Given the description of an element on the screen output the (x, y) to click on. 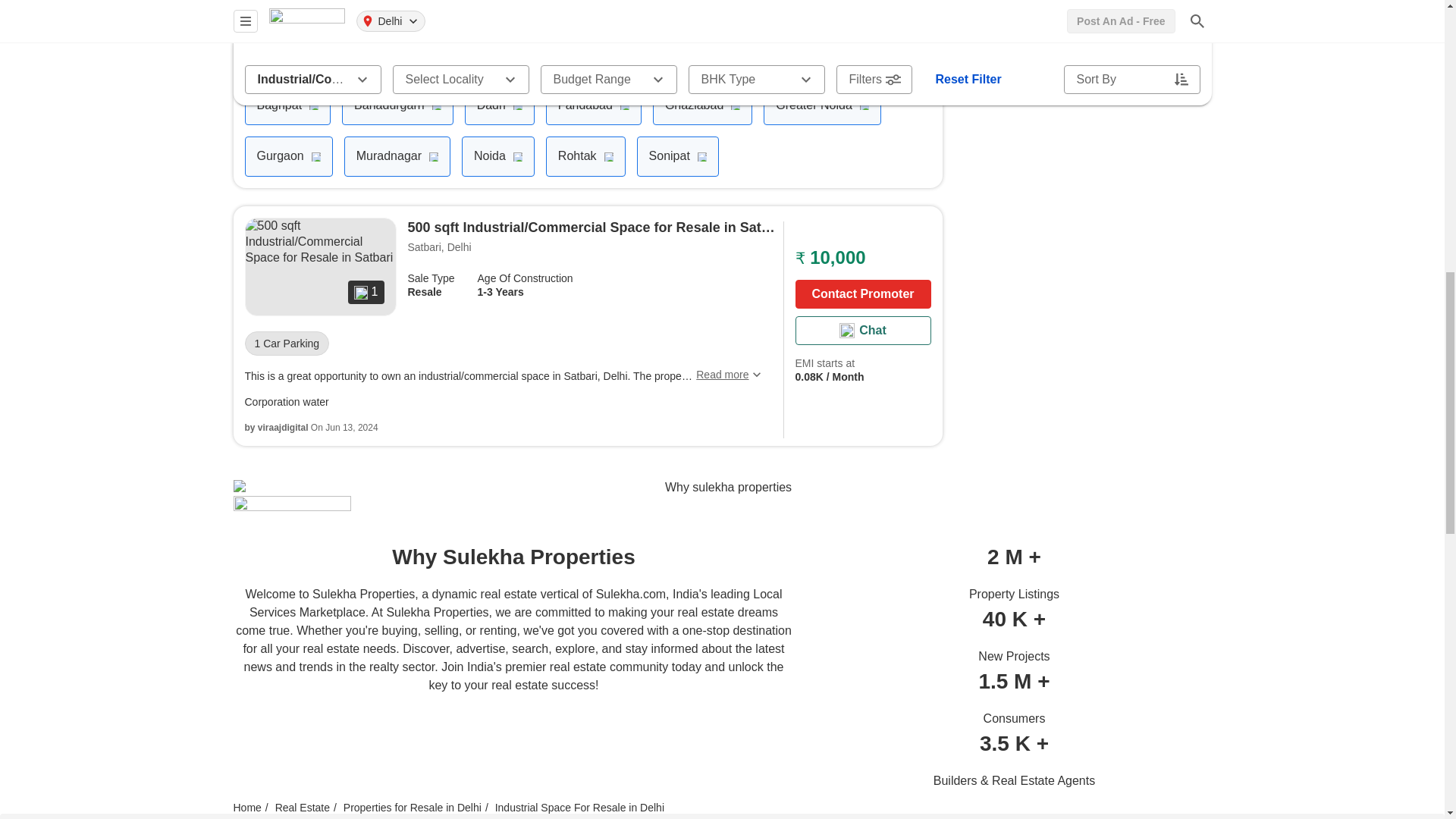
1 Car Parking (585, 284)
